Given the description of an element on the screen output the (x, y) to click on. 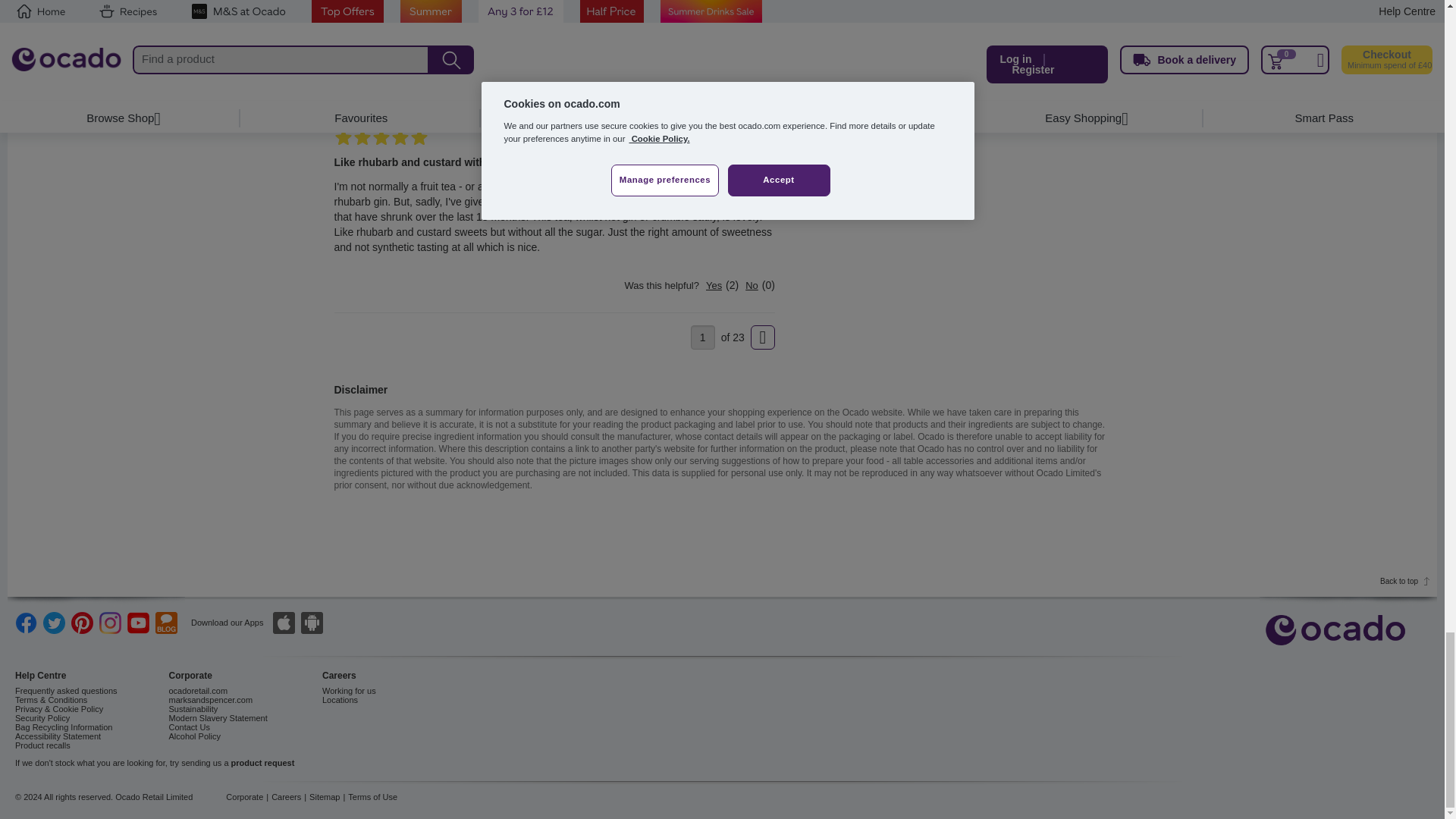
1 (702, 337)
